Given the description of an element on the screen output the (x, y) to click on. 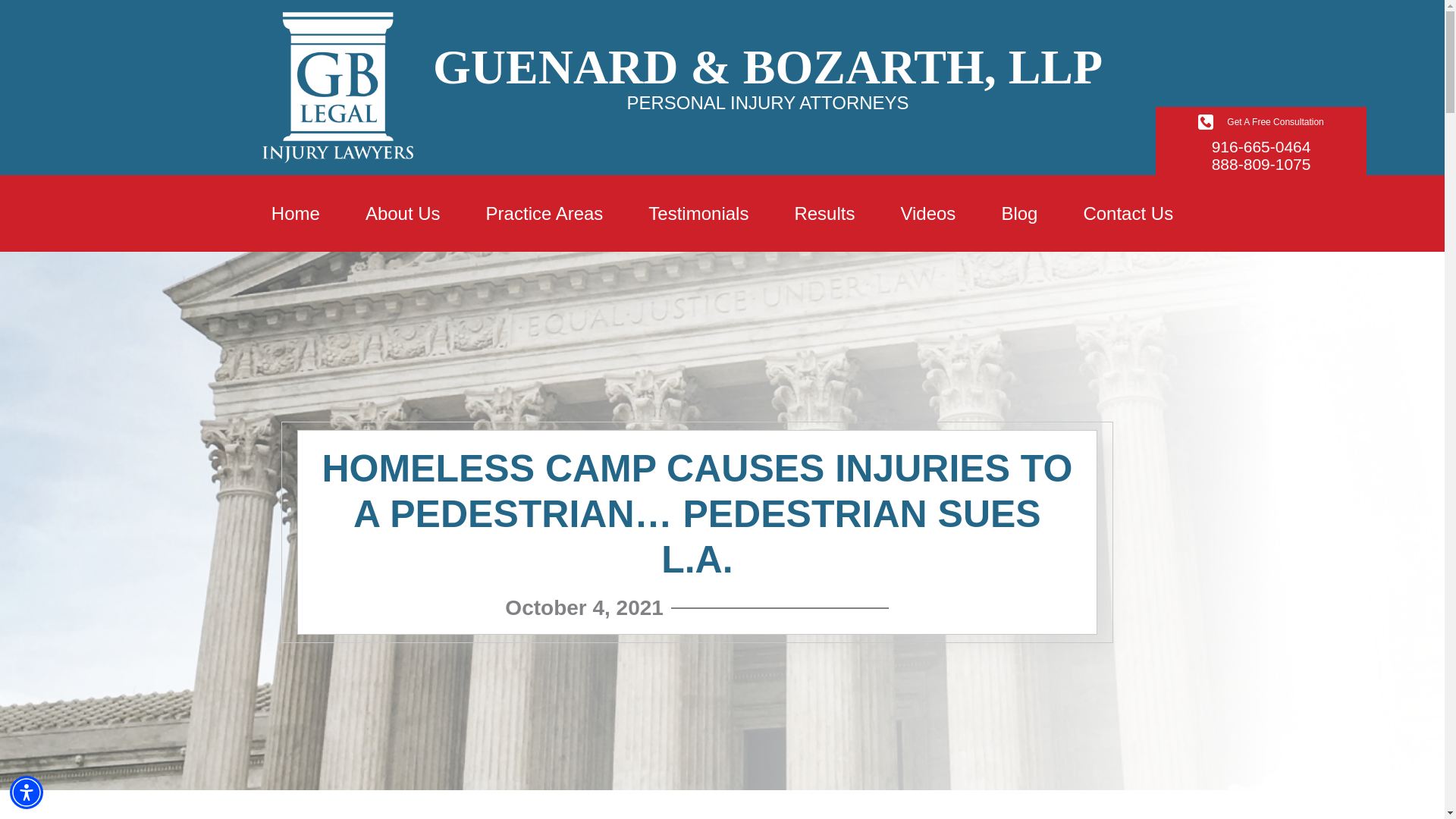
916-665-0464 (1261, 146)
Practice Areas (544, 213)
Home (295, 213)
888-809-1075 (1261, 163)
About Us (402, 213)
Accessibility Menu (26, 792)
